Given the description of an element on the screen output the (x, y) to click on. 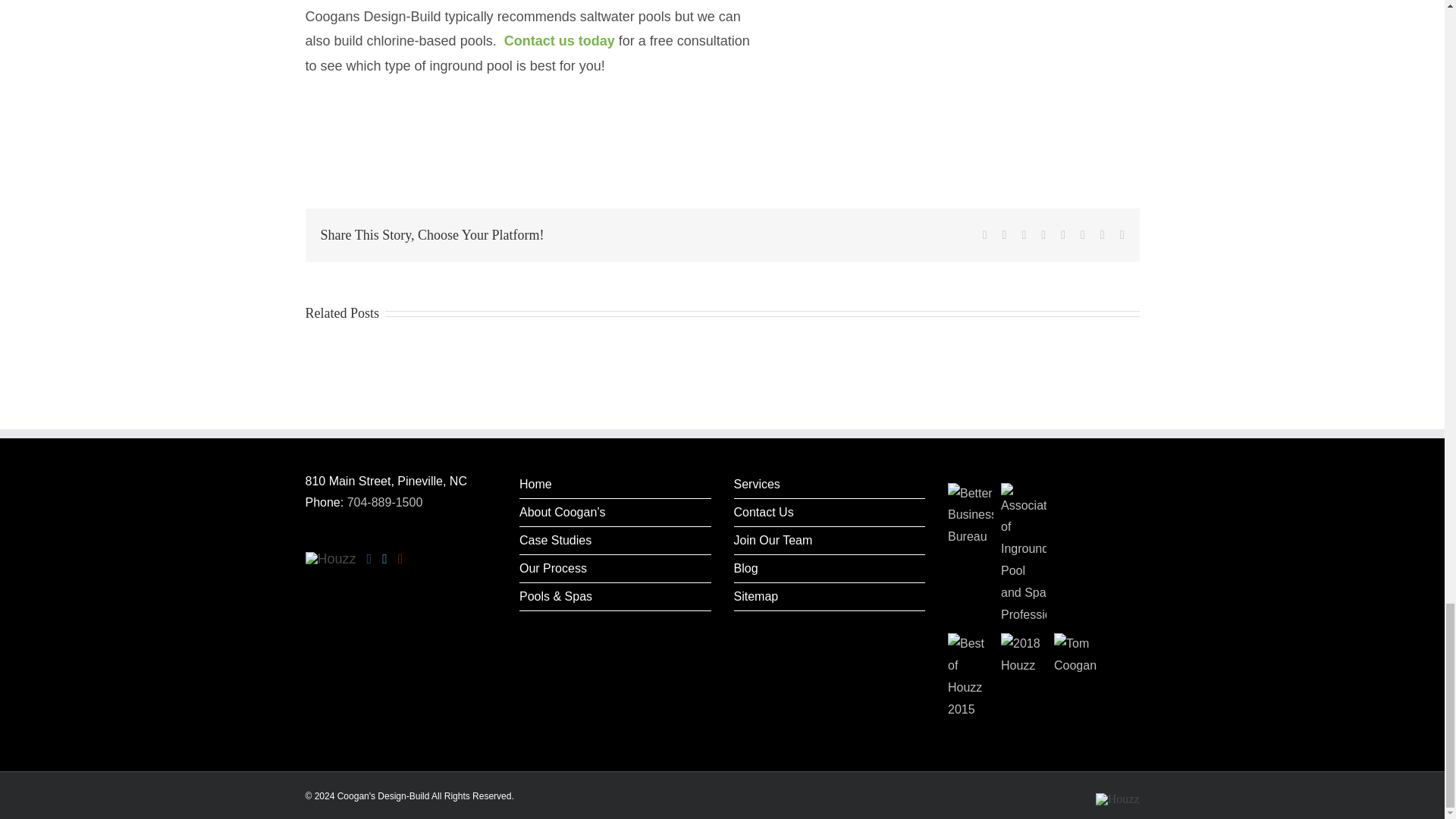
Contact us today (558, 40)
